Given the description of an element on the screen output the (x, y) to click on. 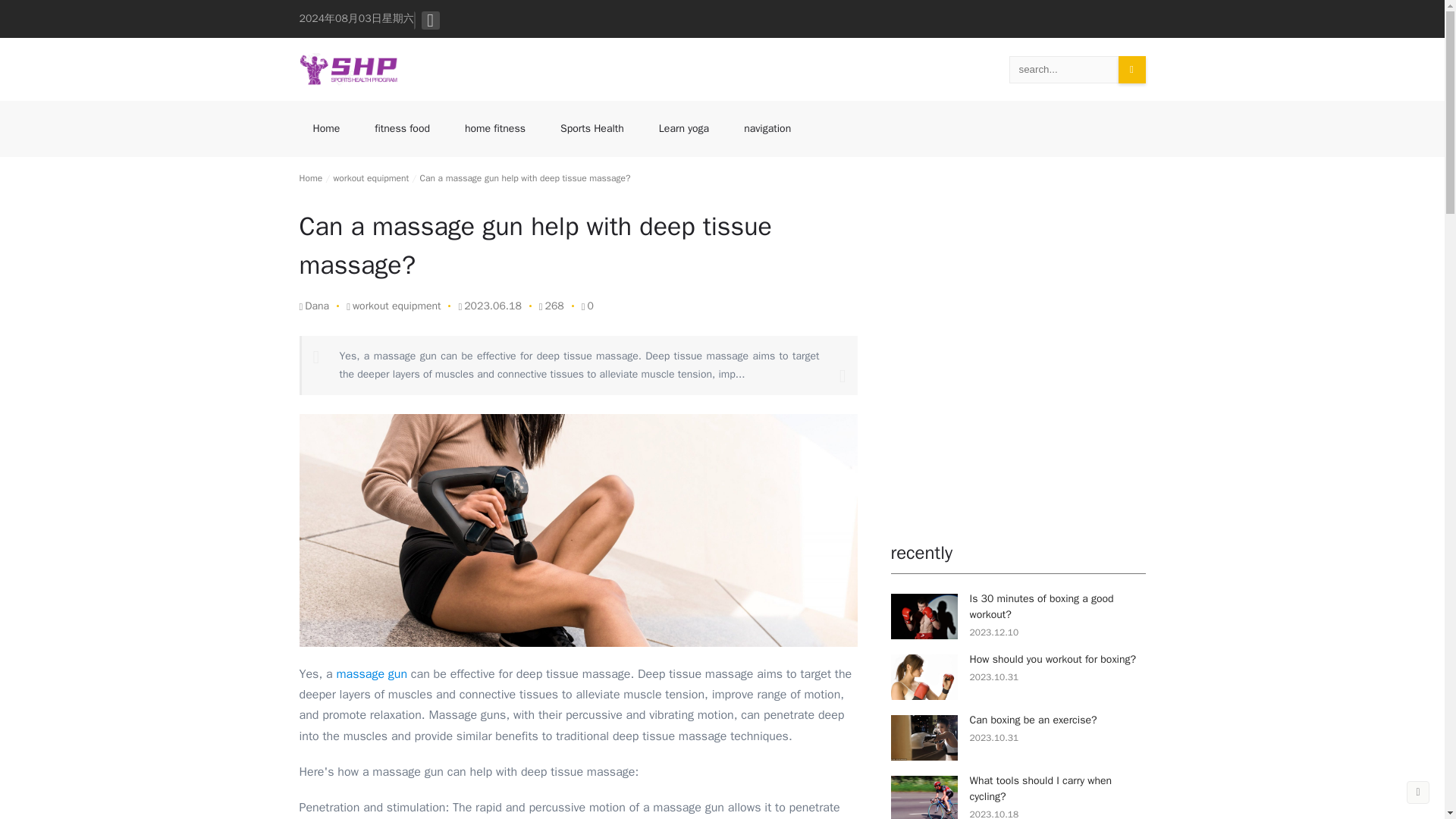
workout equipment (371, 177)
home fitness (494, 131)
workout equipment (396, 305)
Home (309, 177)
home fitness (494, 131)
Sports Health (592, 131)
Learn yoga (683, 131)
navigation (767, 131)
How should you workout for boxing? (1052, 658)
What tools should I carry when cycling? (1040, 788)
